Given the description of an element on the screen output the (x, y) to click on. 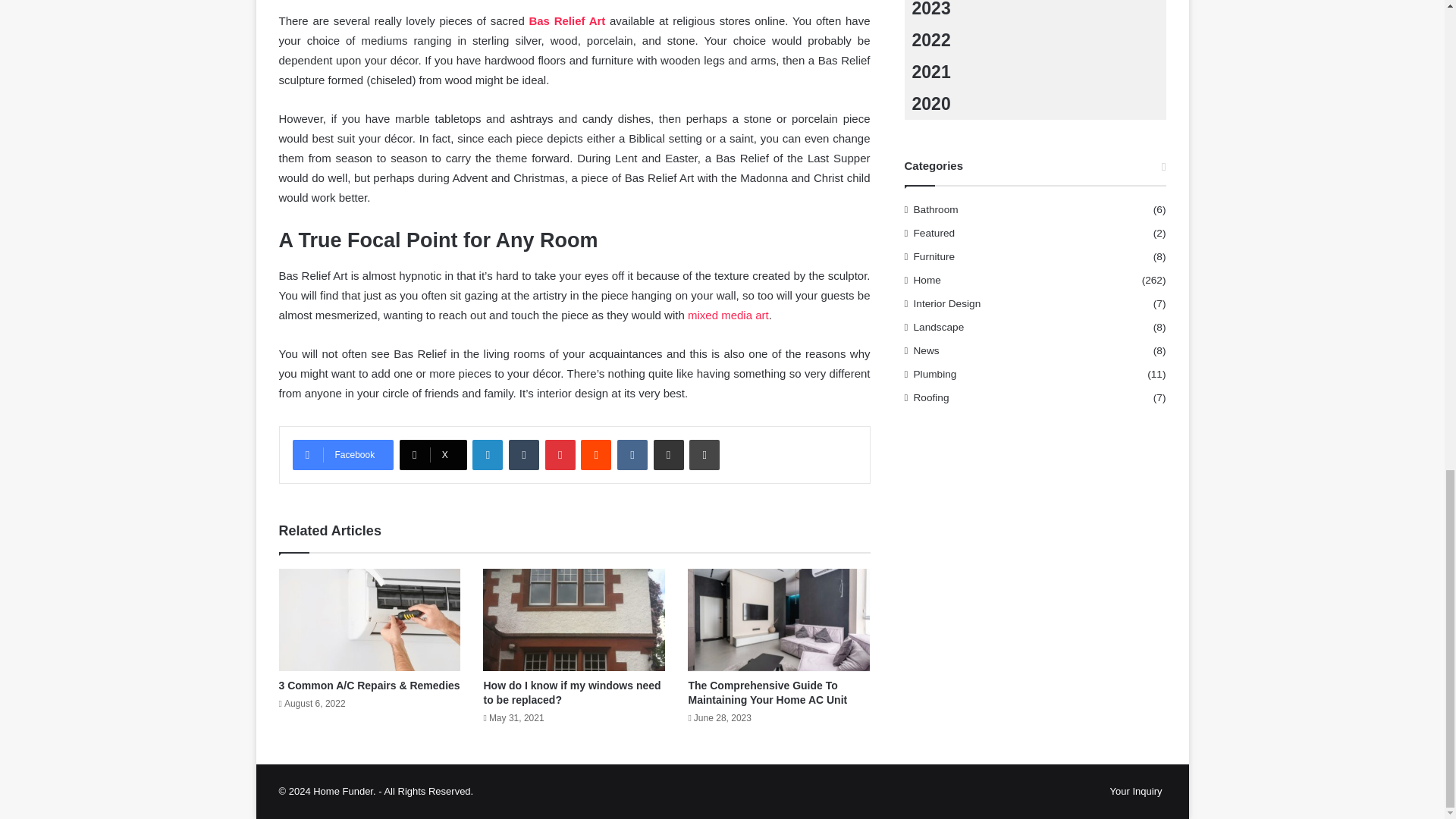
Reddit (595, 454)
LinkedIn (486, 454)
Bas Relief Art (566, 20)
VKontakte (632, 454)
LinkedIn (486, 454)
Facebook (343, 454)
Tumblr (523, 454)
X (432, 454)
X (432, 454)
Facebook (343, 454)
How do I know if my windows need to be replaced? (572, 692)
Pinterest (559, 454)
Print (703, 454)
Share via Email (668, 454)
VKontakte (632, 454)
